Given the description of an element on the screen output the (x, y) to click on. 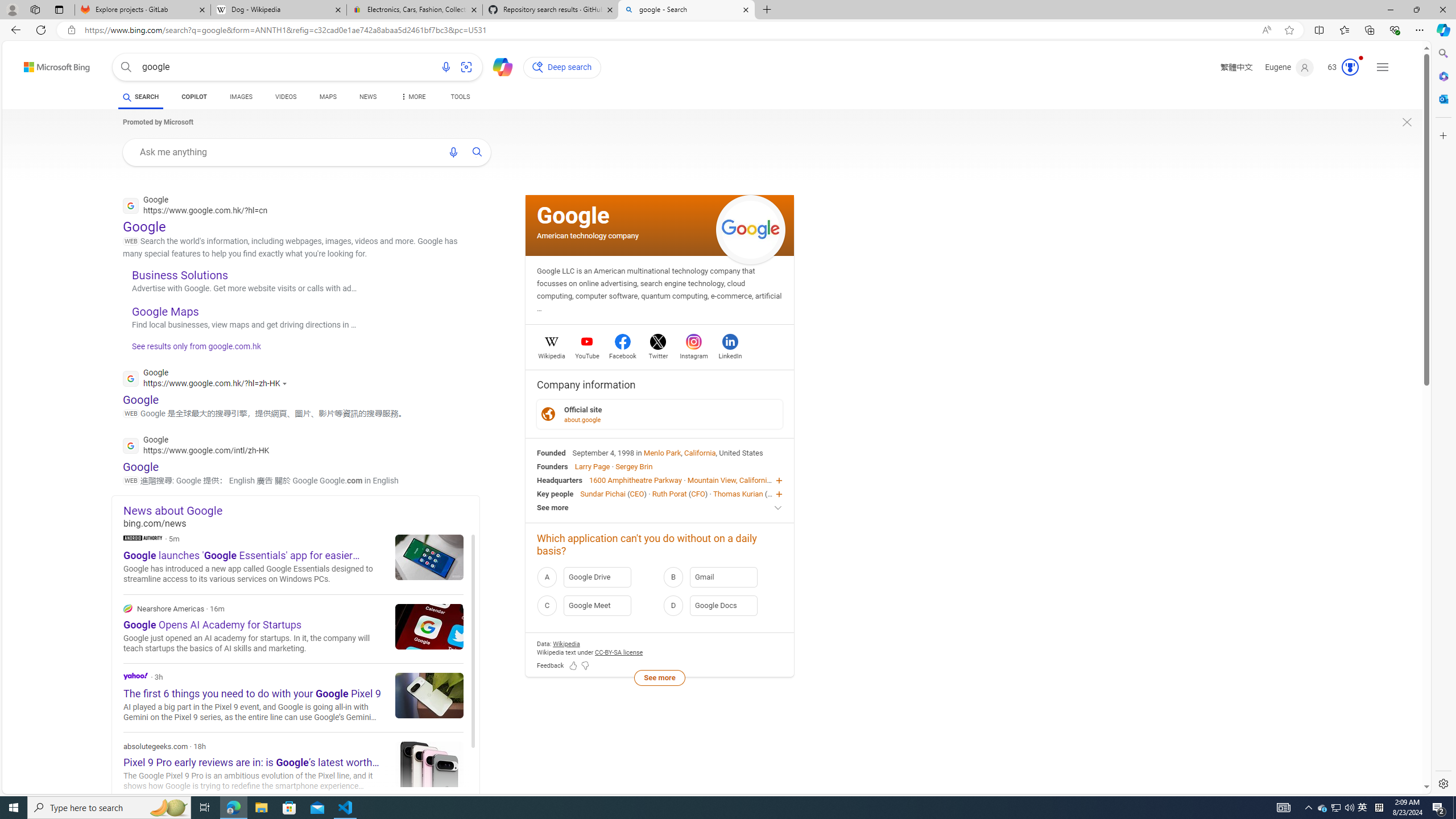
Chat (497, 65)
Yahoo (293, 697)
Dropdown Menu (412, 96)
Headquarters (559, 479)
See more images of Google (751, 228)
C Google Meet (596, 605)
